Given the description of an element on the screen output the (x, y) to click on. 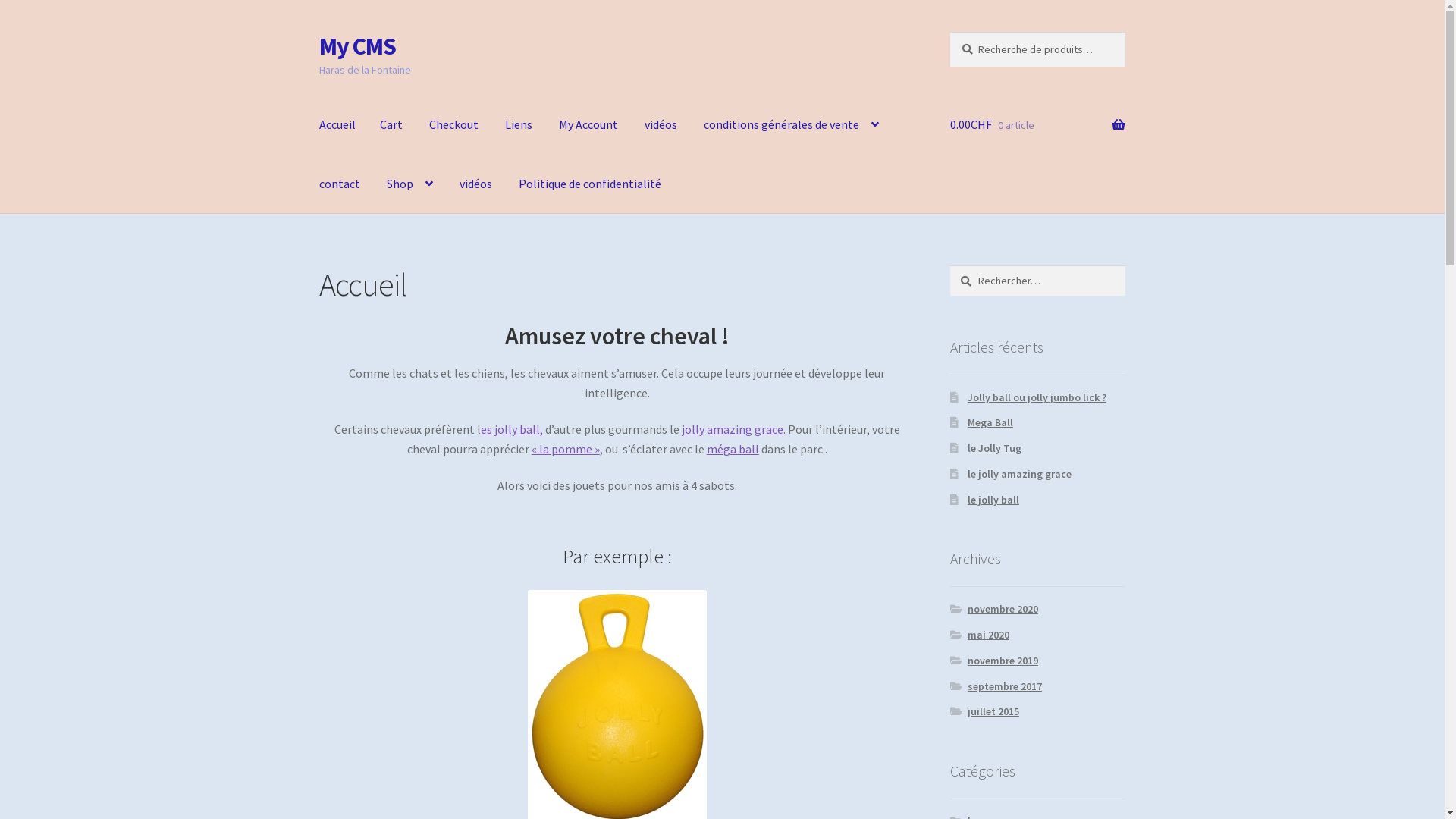
Liens Element type: text (518, 124)
Accueil Element type: text (337, 124)
le jolly ball Element type: text (993, 499)
mai 2020 Element type: text (988, 634)
My CMS Element type: text (357, 46)
contact Element type: text (339, 183)
Shop Element type: text (409, 183)
Cart Element type: text (390, 124)
Jolly ball ou jolly jumbo lick ? Element type: text (1036, 397)
le Jolly Tug Element type: text (994, 448)
le jolly amazing grace Element type: text (1019, 473)
novembre 2019 Element type: text (1002, 660)
jolly Element type: text (692, 428)
juillet 2015 Element type: text (993, 711)
Mega Ball Element type: text (990, 422)
novembre 2020 Element type: text (1002, 608)
septembre 2017 Element type: text (1004, 686)
My Account Element type: text (588, 124)
grace. Element type: text (769, 428)
es jolly ball, Element type: text (511, 428)
amazing Element type: text (729, 428)
Rechercher Element type: text (949, 264)
Checkout Element type: text (453, 124)
0.00CHF 0 article Element type: text (1037, 124)
Recherche Element type: text (949, 31)
